Given the description of an element on the screen output the (x, y) to click on. 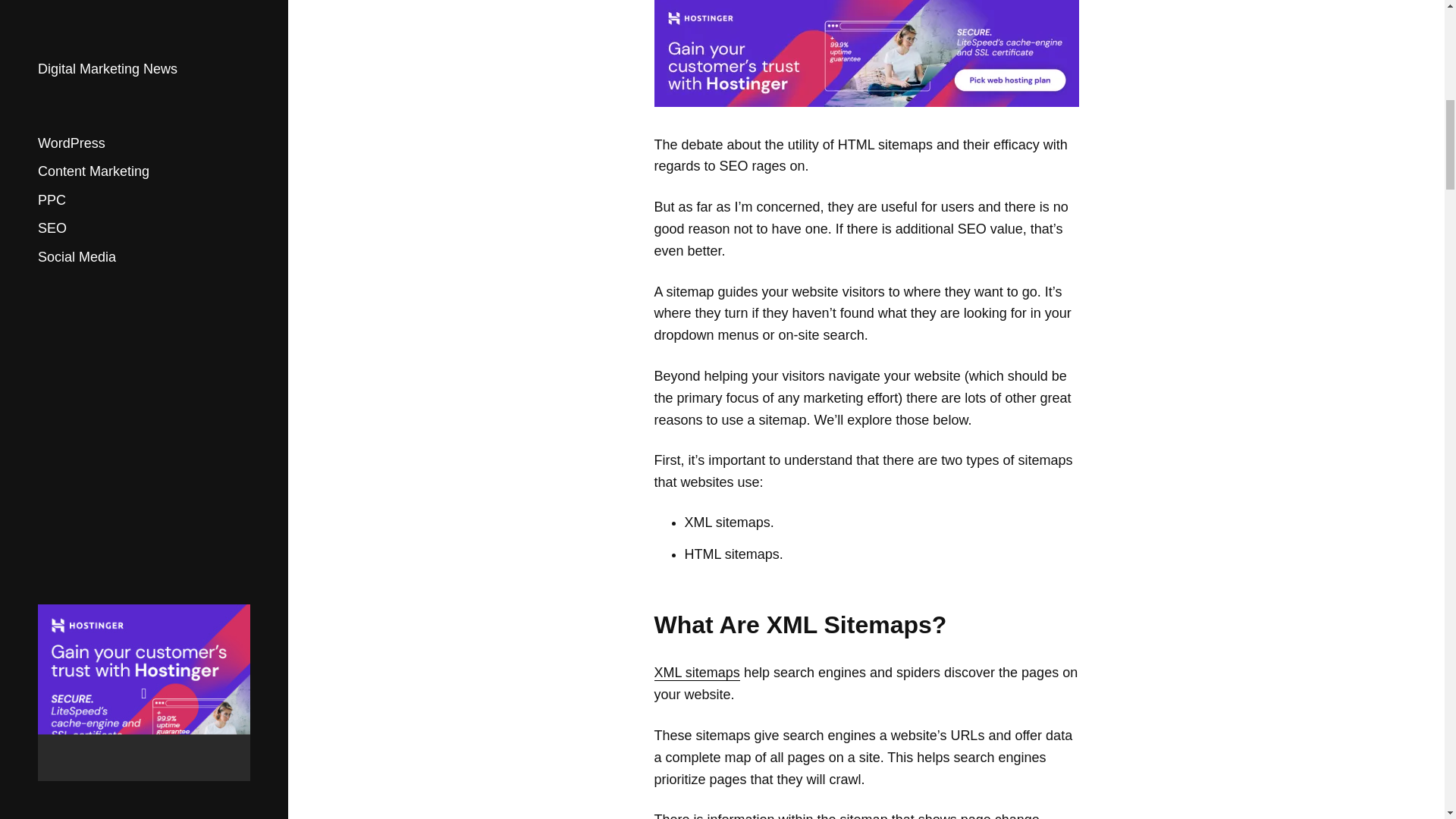
XML sitemaps (696, 672)
